Given the description of an element on the screen output the (x, y) to click on. 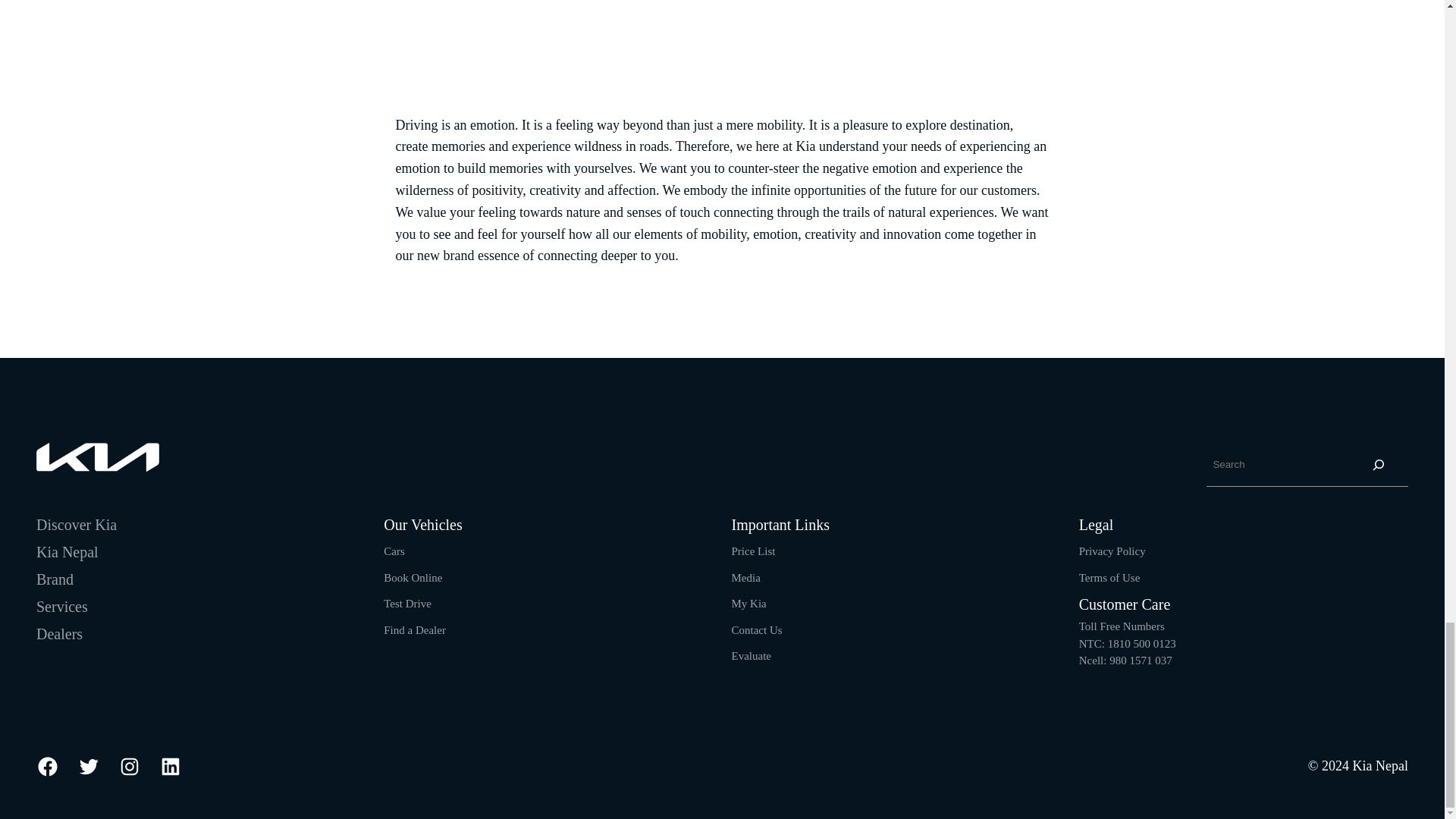
Brand (55, 579)
My Kia (747, 603)
Dealers (59, 633)
Find a Dealer (414, 630)
Services (61, 606)
Terms of Use (1109, 577)
Price List (752, 551)
Contact Us (755, 630)
Evaluate (750, 655)
Test Drive (407, 603)
Book Online (413, 577)
Discover Kia (76, 524)
Kia Nepal Facebook (47, 766)
Media (745, 577)
Privacy Policy (1111, 551)
